Given the description of an element on the screen output the (x, y) to click on. 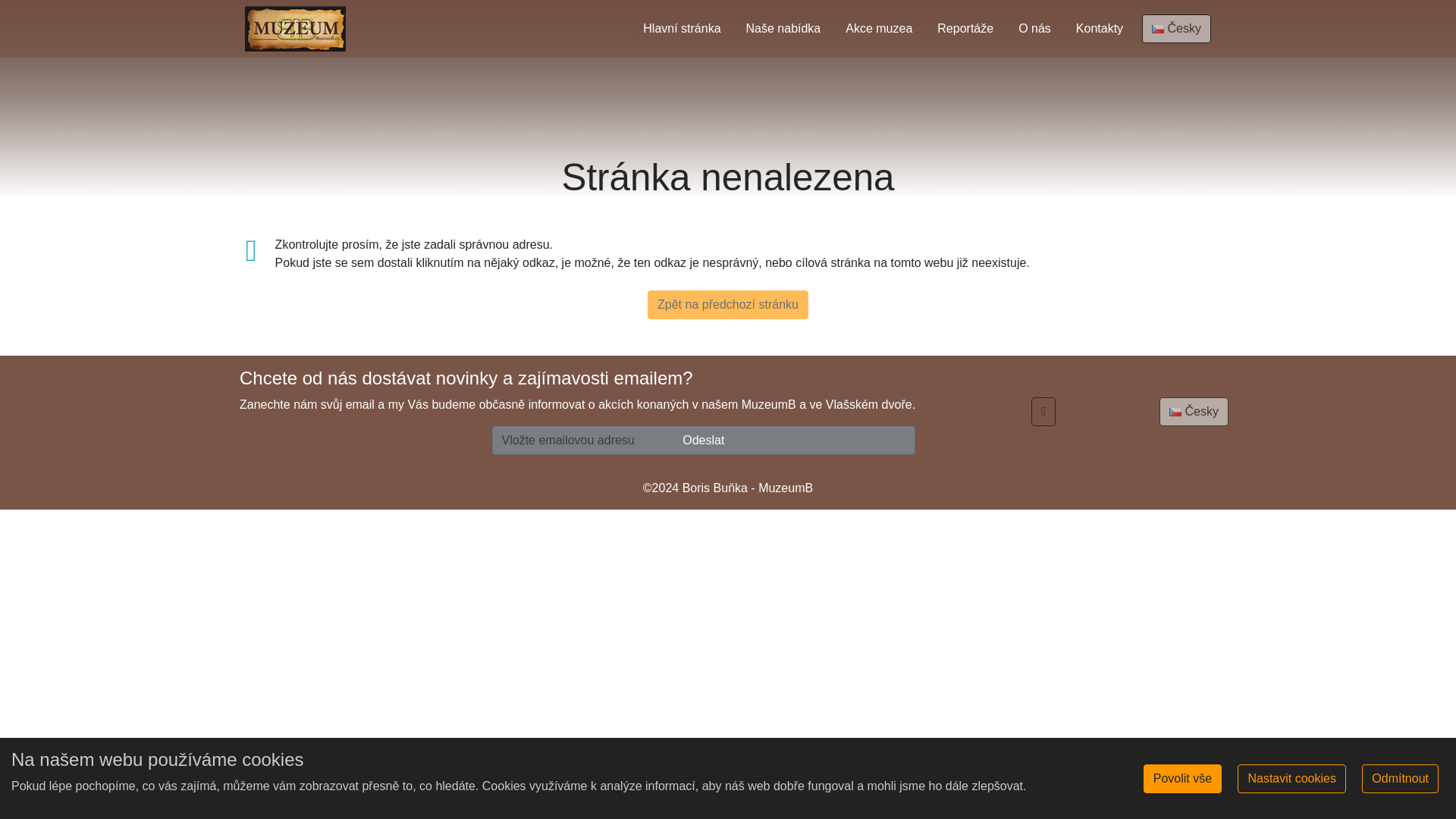
Kontakty (1099, 28)
Akce muzea (878, 28)
Odeslat (703, 440)
